Given the description of an element on the screen output the (x, y) to click on. 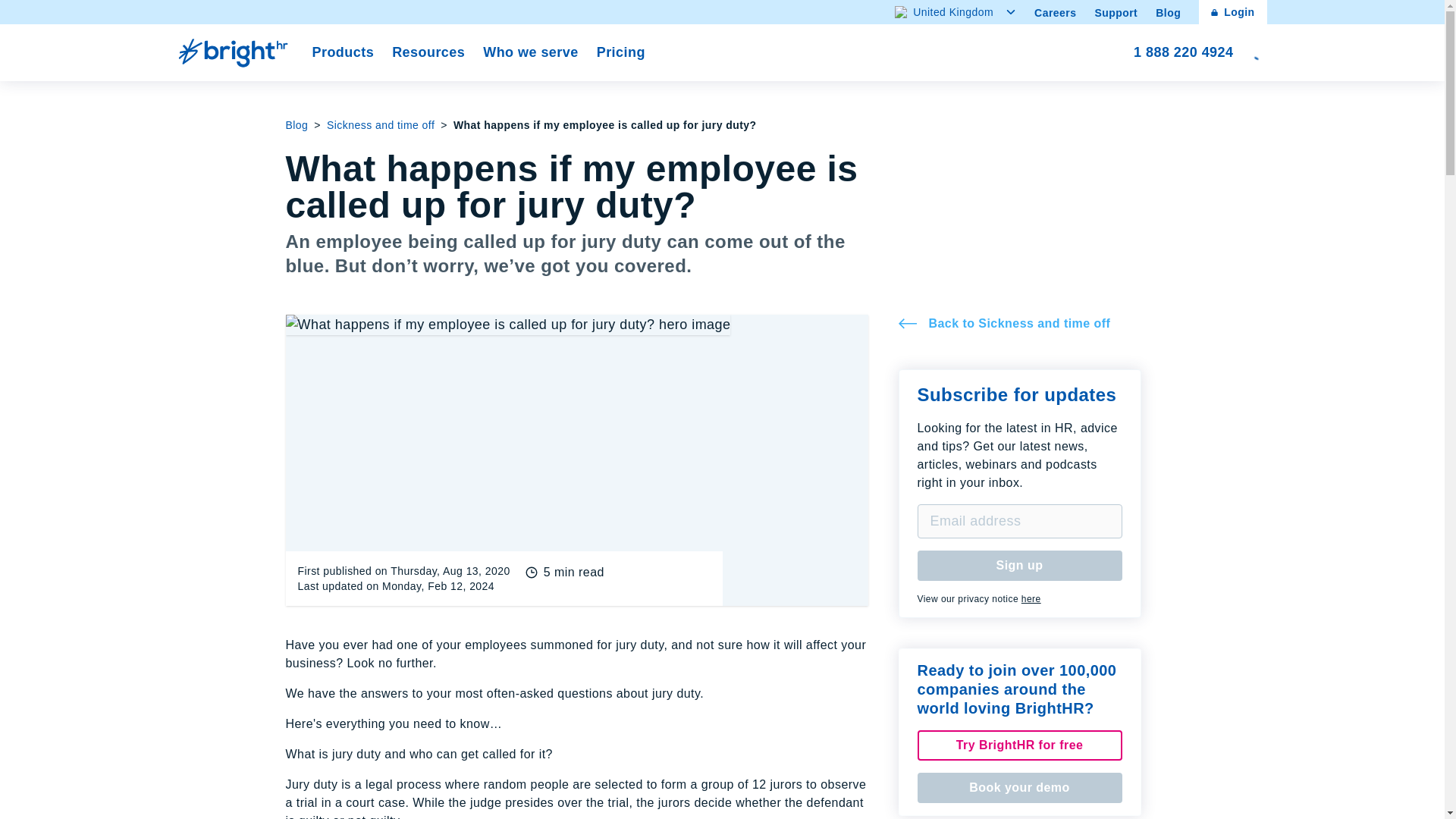
Careers (1054, 11)
1 888 220 4924 (1031, 598)
Blog (1183, 52)
Sickness and time off (1168, 11)
Try BrightHR for free (379, 124)
Login (1019, 745)
Pricing (1232, 12)
Sign up (620, 52)
United Kingdom (1019, 565)
Book your demo (955, 11)
Back to Sickness and time off (1019, 788)
Support (1019, 323)
Blog (1115, 11)
